Given the description of an element on the screen output the (x, y) to click on. 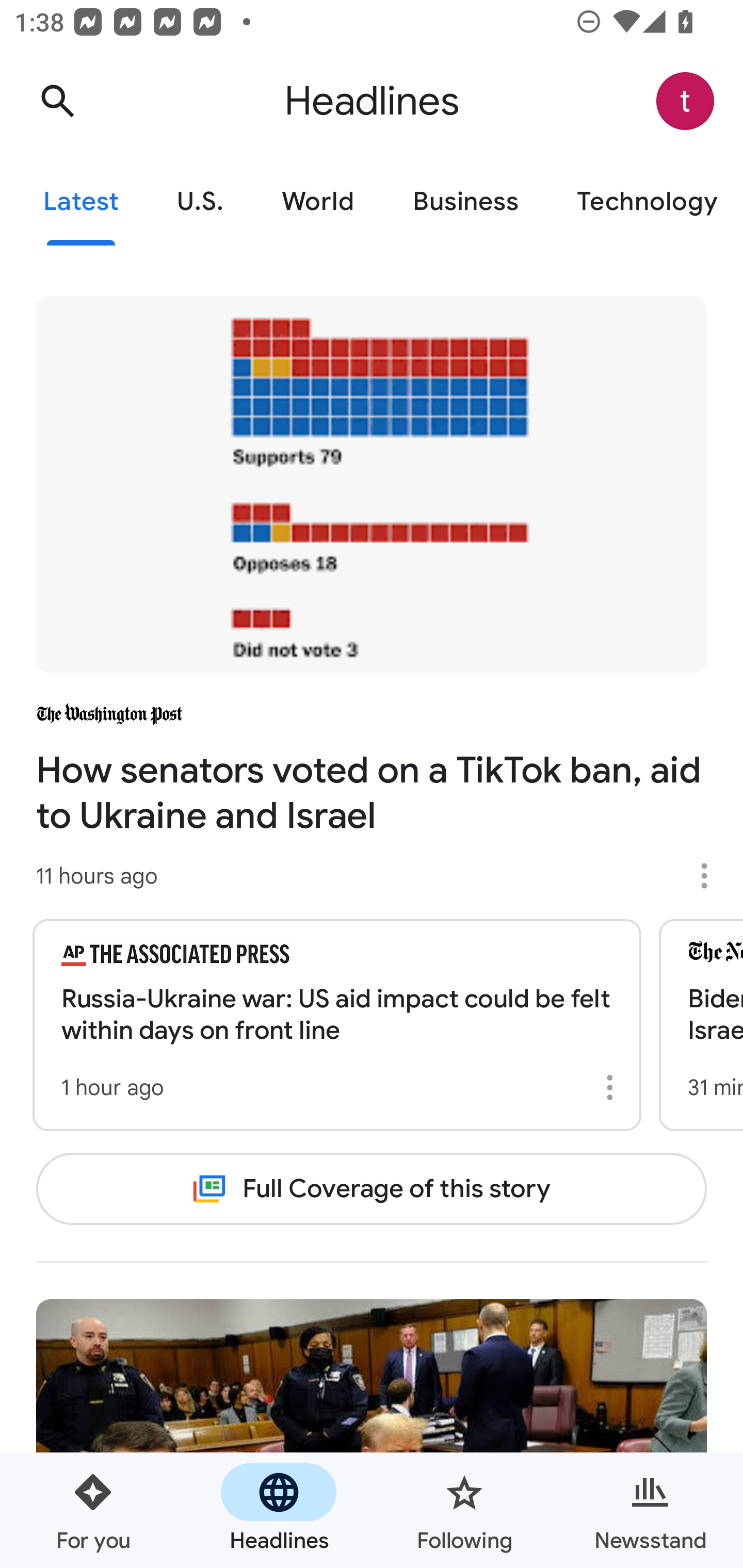
Search (57, 100)
U.S. (199, 202)
World (317, 202)
Business (465, 202)
Technology (645, 202)
More options (711, 875)
More options (613, 1086)
Full Coverage of this story (371, 1188)
For you (92, 1509)
Headlines (278, 1509)
Following (464, 1509)
Newsstand (650, 1509)
